Given the description of an element on the screen output the (x, y) to click on. 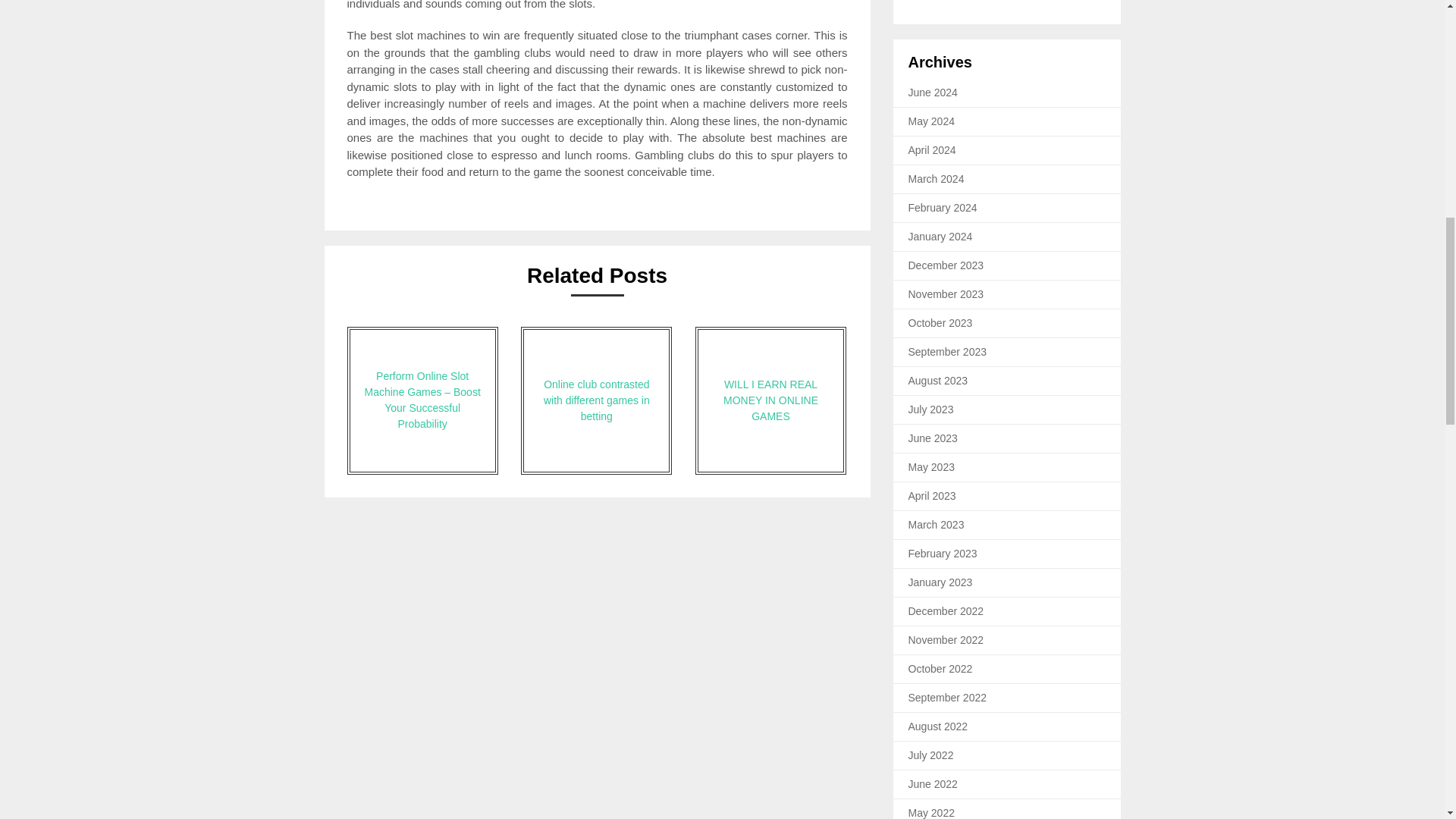
November 2023 (946, 294)
January 2023 (940, 582)
January 2024 (940, 236)
October 2022 (940, 668)
July 2023 (930, 409)
May 2024 (931, 121)
December 2023 (946, 265)
February 2024 (942, 207)
March 2023 (935, 524)
June 2024 (933, 92)
September 2023 (947, 351)
April 2024 (932, 150)
Online club contrasted with different games in betting (596, 400)
April 2023 (932, 495)
November 2022 (946, 639)
